Given the description of an element on the screen output the (x, y) to click on. 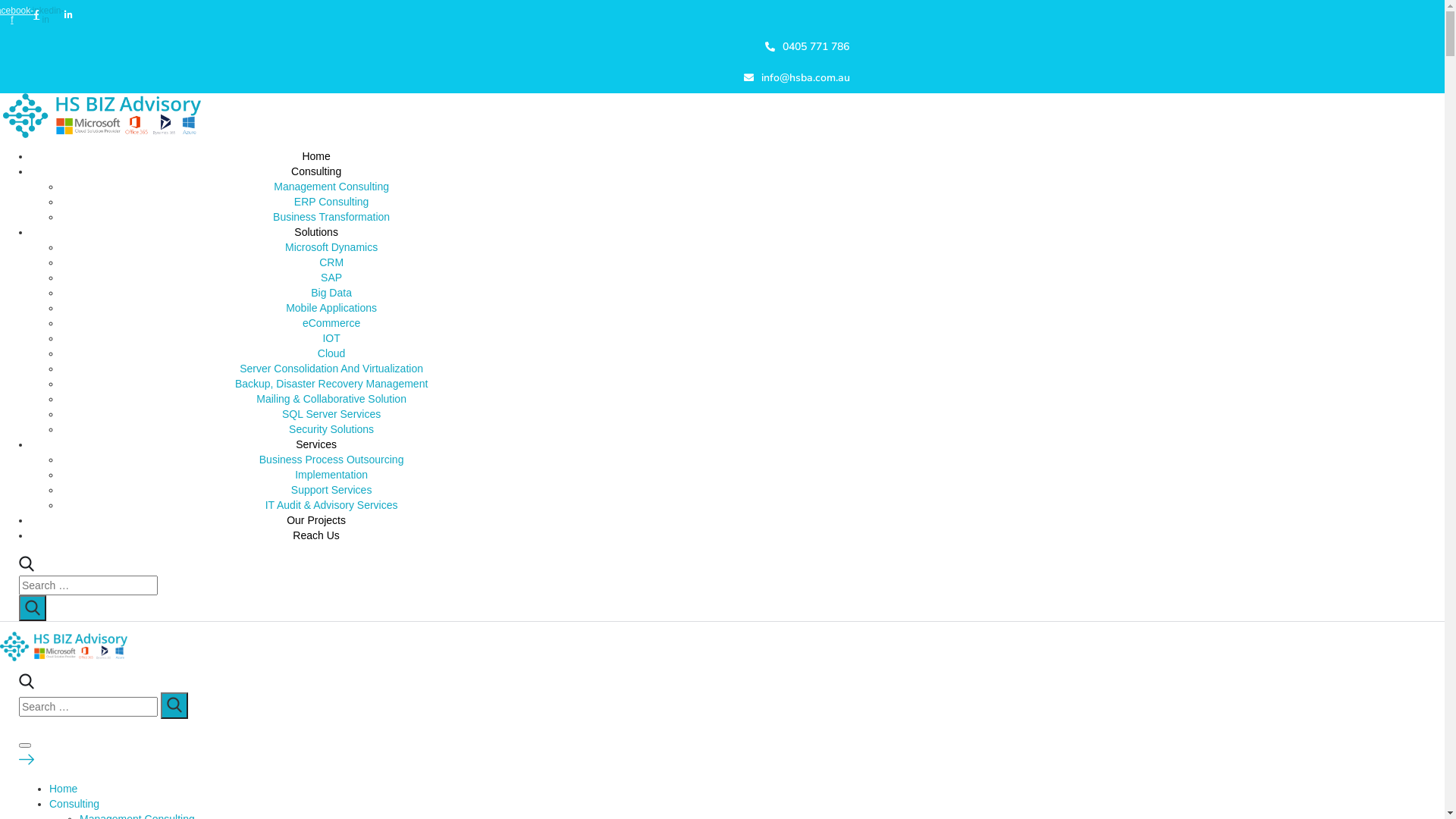
CRM Element type: text (331, 262)
Big Data Element type: text (330, 292)
Reach Us Element type: text (315, 535)
Management Consulting Element type: text (331, 186)
Microsoft Dynamics Element type: text (331, 247)
info@hsba.com.au Element type: text (425, 77)
IOT Element type: text (330, 338)
Facebook-f Element type: text (15, 15)
Cloud Element type: text (331, 353)
eCommerce Element type: text (331, 322)
Business Process Outsourcing Element type: text (331, 459)
Backup, Disaster Recovery Management Element type: text (331, 383)
Services Element type: text (315, 444)
SAP Element type: text (331, 277)
Mobile Applications Element type: text (330, 307)
SQL Server Services Element type: text (331, 413)
0405 771 786 Element type: text (424, 46)
Support Services Element type: text (331, 489)
Business Transformation Element type: text (331, 216)
Security Solutions Element type: text (330, 429)
Home Element type: text (315, 156)
ERP Consulting Element type: text (331, 201)
Solutions Element type: text (316, 231)
Consulting Element type: text (74, 803)
Home Element type: text (63, 788)
Mailing & Collaborative Solution Element type: text (331, 398)
Server Consolidation And Virtualization Element type: text (331, 368)
IT Audit & Advisory Services Element type: text (331, 504)
Linkedin-in Element type: text (49, 15)
Consulting Element type: text (316, 171)
Implementation Element type: text (330, 474)
Our Projects Element type: text (315, 520)
